Given the description of an element on the screen output the (x, y) to click on. 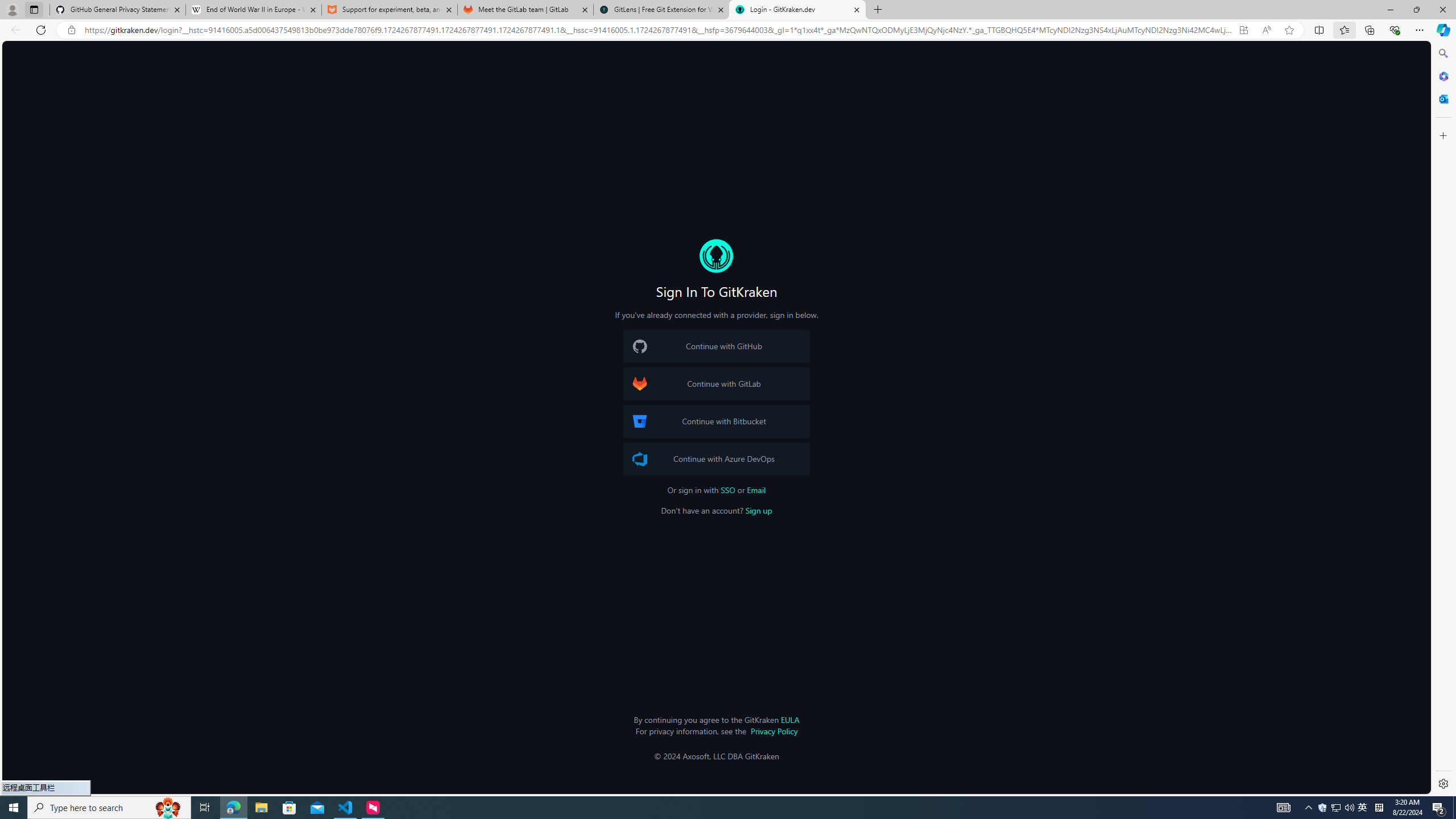
GitHub General Privacy Statement - GitHub Docs (117, 9)
Privacy Policy (773, 730)
App available. Install GitKraken.dev (1243, 29)
GitLens | Free Git Extension for Visual Studio Code (660, 9)
EULA (789, 719)
Sign up (758, 510)
Login - GitKraken.dev (797, 9)
Meet the GitLab team | GitLab (525, 9)
Email (755, 489)
